Given the description of an element on the screen output the (x, y) to click on. 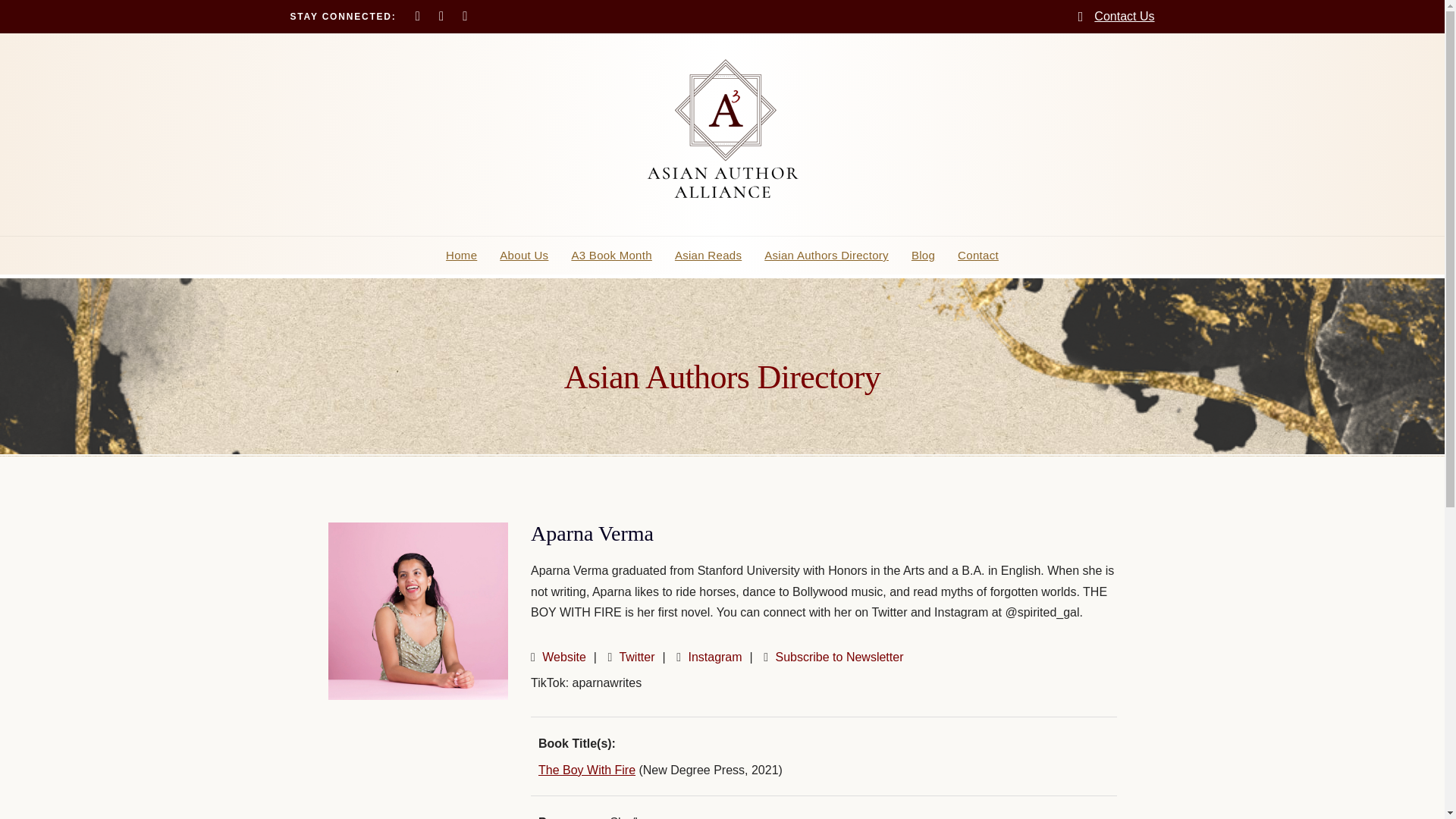
Aparna Verma (417, 611)
Website (563, 656)
A3 Book Month (610, 255)
Home (460, 255)
Instagram (714, 656)
About Us (523, 255)
Twitter (635, 656)
Asian Reads (707, 255)
Contact Us (1124, 15)
Contact (978, 255)
Blog (922, 255)
Subscribe to Newsletter (838, 656)
The Boy With Fire (586, 768)
Asian Authors Directory (825, 255)
